Given the description of an element on the screen output the (x, y) to click on. 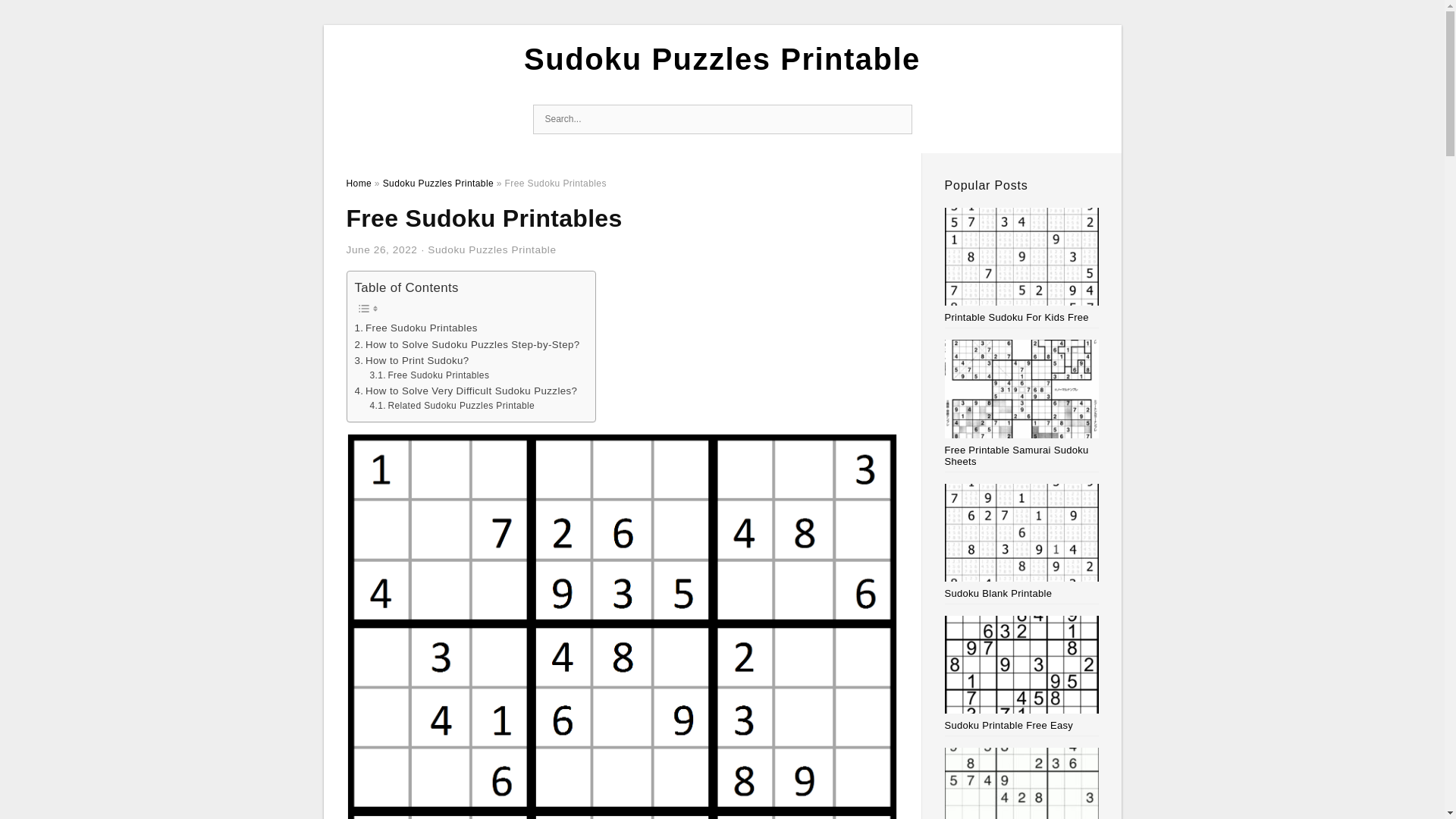
Search (895, 119)
Free Sudoku Printables (429, 375)
How to Solve Very Difficult Sudoku Puzzles? (466, 390)
How to Print Sudoku? (411, 360)
How to Solve Very Difficult Sudoku Puzzles? (466, 390)
Free Sudoku Printables (416, 327)
Free Sudoku Printables (429, 375)
Sudoku Puzzles Printable (437, 183)
Sudoku Puzzles Printable (722, 59)
